Given the description of an element on the screen output the (x, y) to click on. 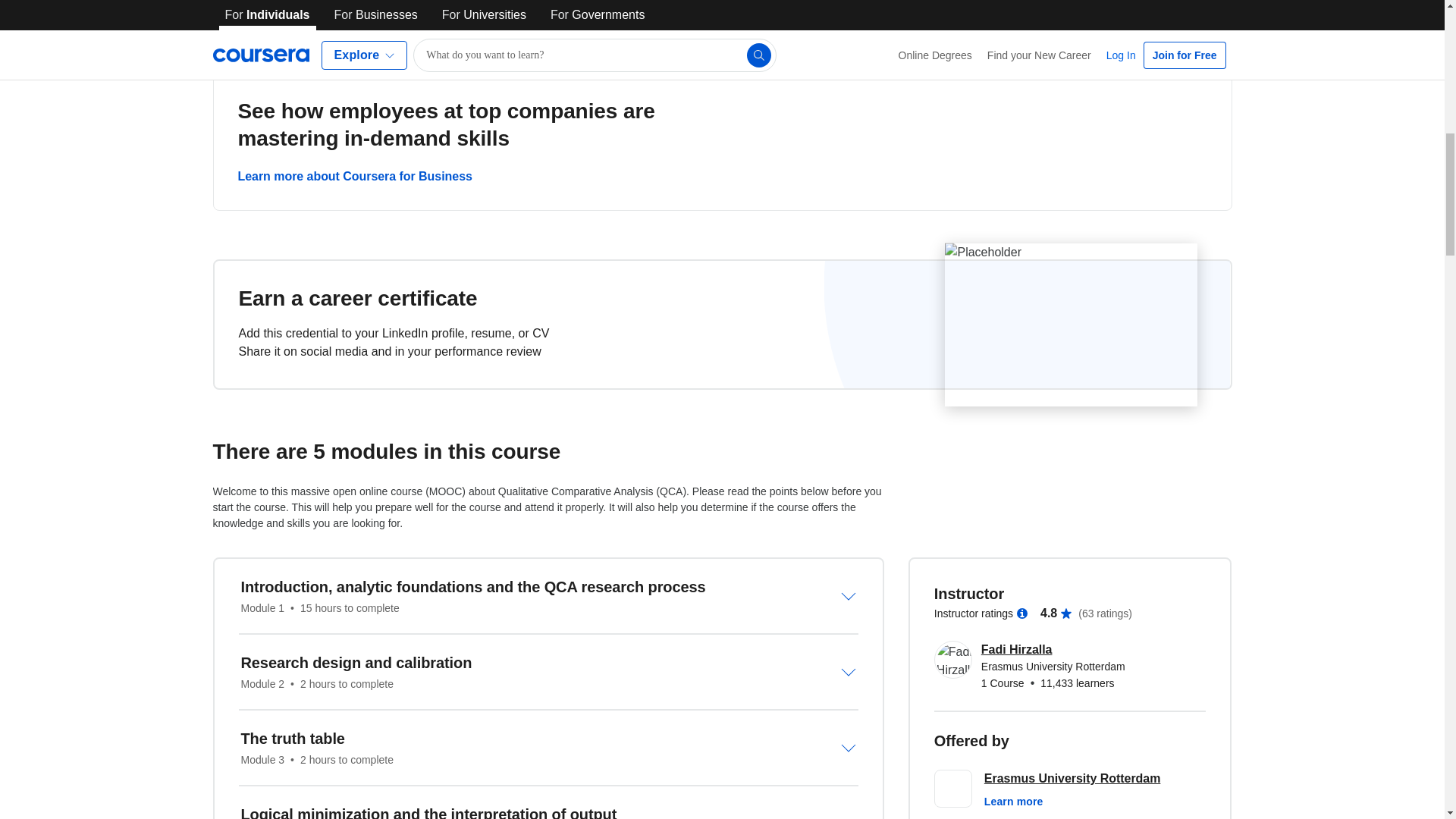
Learn more about Coursera for Business (354, 175)
